Given the description of an element on the screen output the (x, y) to click on. 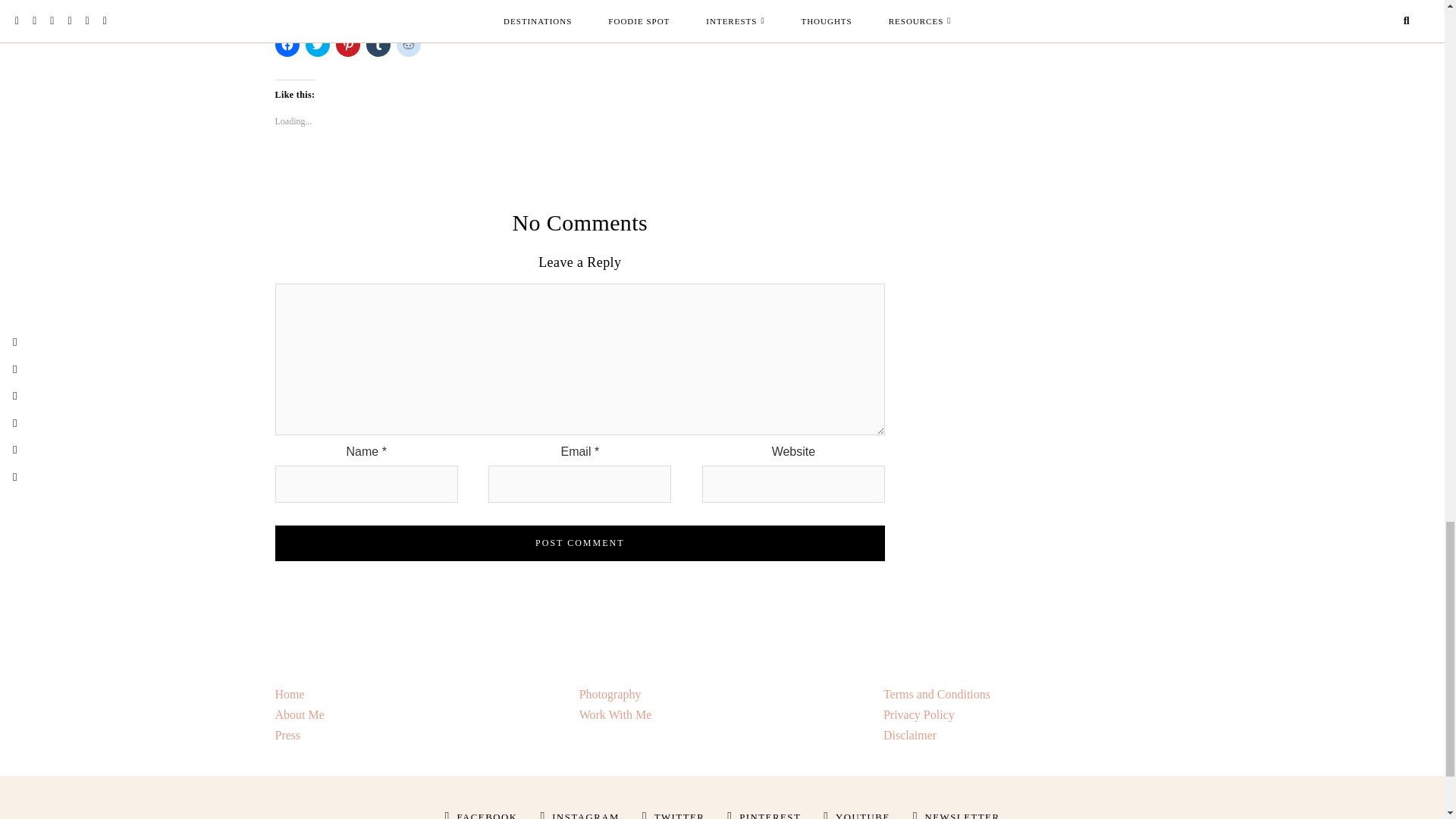
Post Comment (580, 542)
Click to share on Tumblr (377, 44)
Click to share on Pinterest (346, 44)
Click to share on Reddit (408, 44)
Click to share on Facebook (286, 44)
Click to share on Twitter (316, 44)
